Given the description of an element on the screen output the (x, y) to click on. 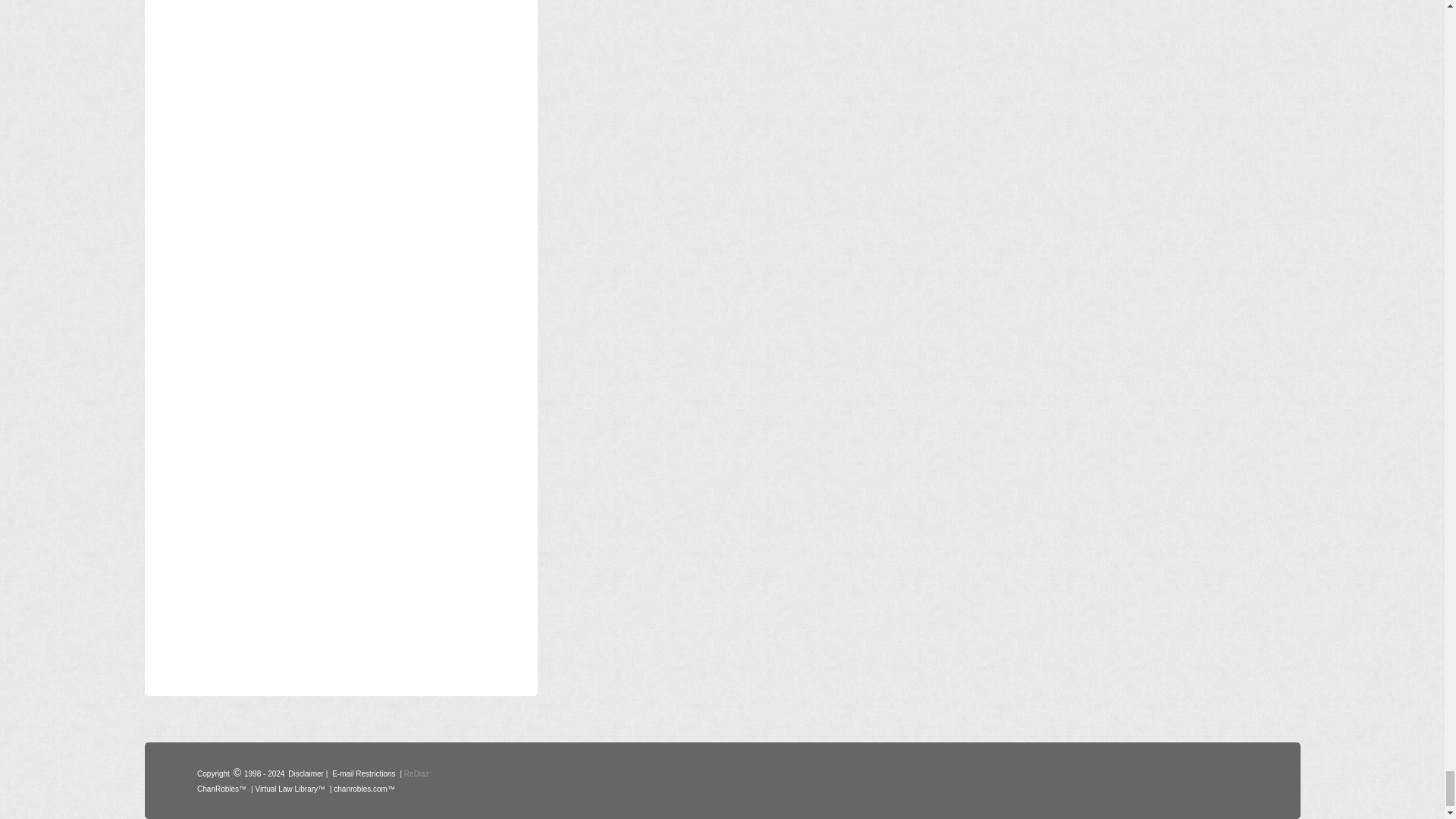
Copyright (213, 772)
